Given the description of an element on the screen output the (x, y) to click on. 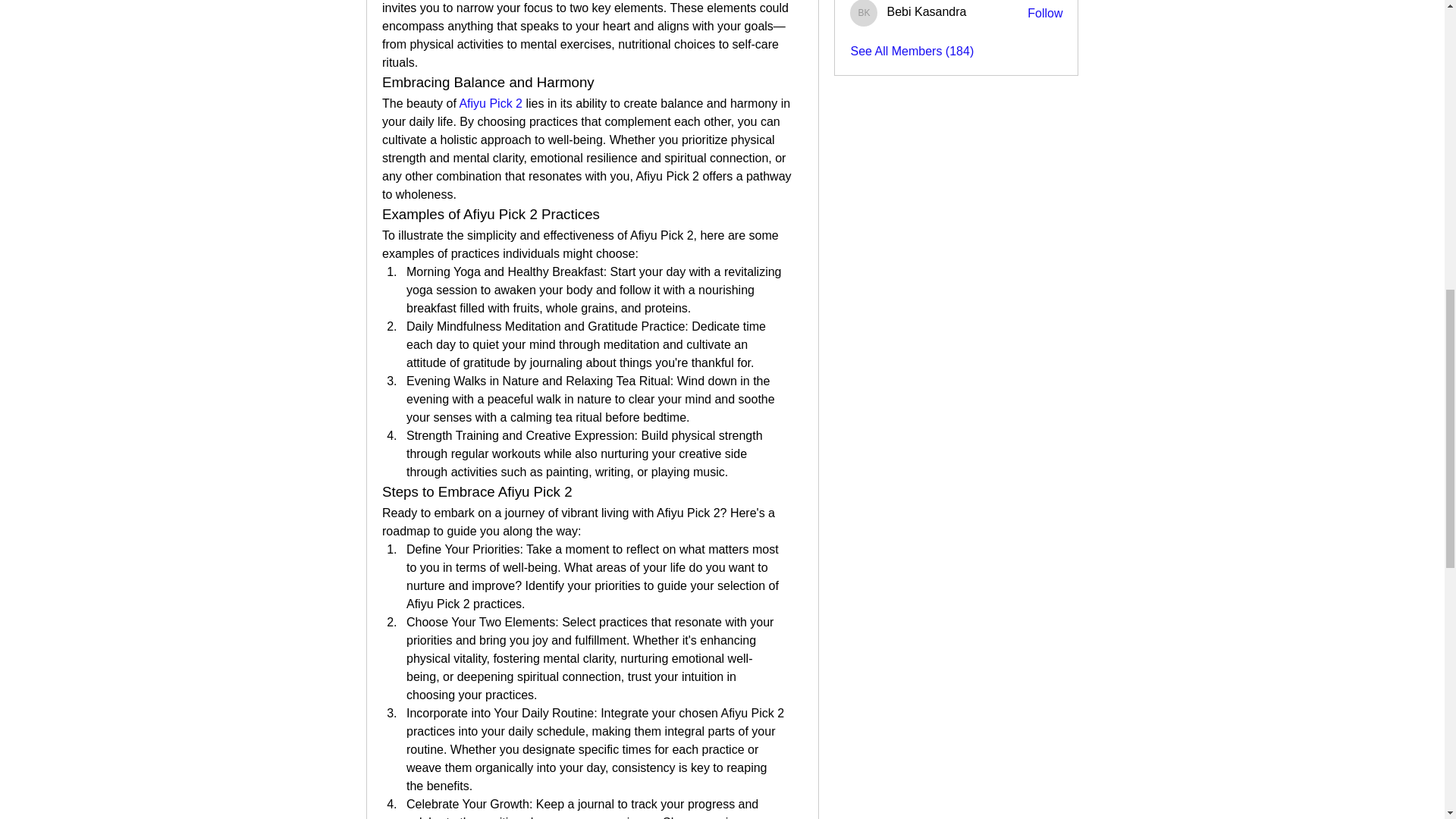
Follow (1044, 13)
Afiyu Pick 2 (490, 103)
Bebi Kasandra (863, 13)
Bebi Kasandra (926, 11)
